Given the description of an element on the screen output the (x, y) to click on. 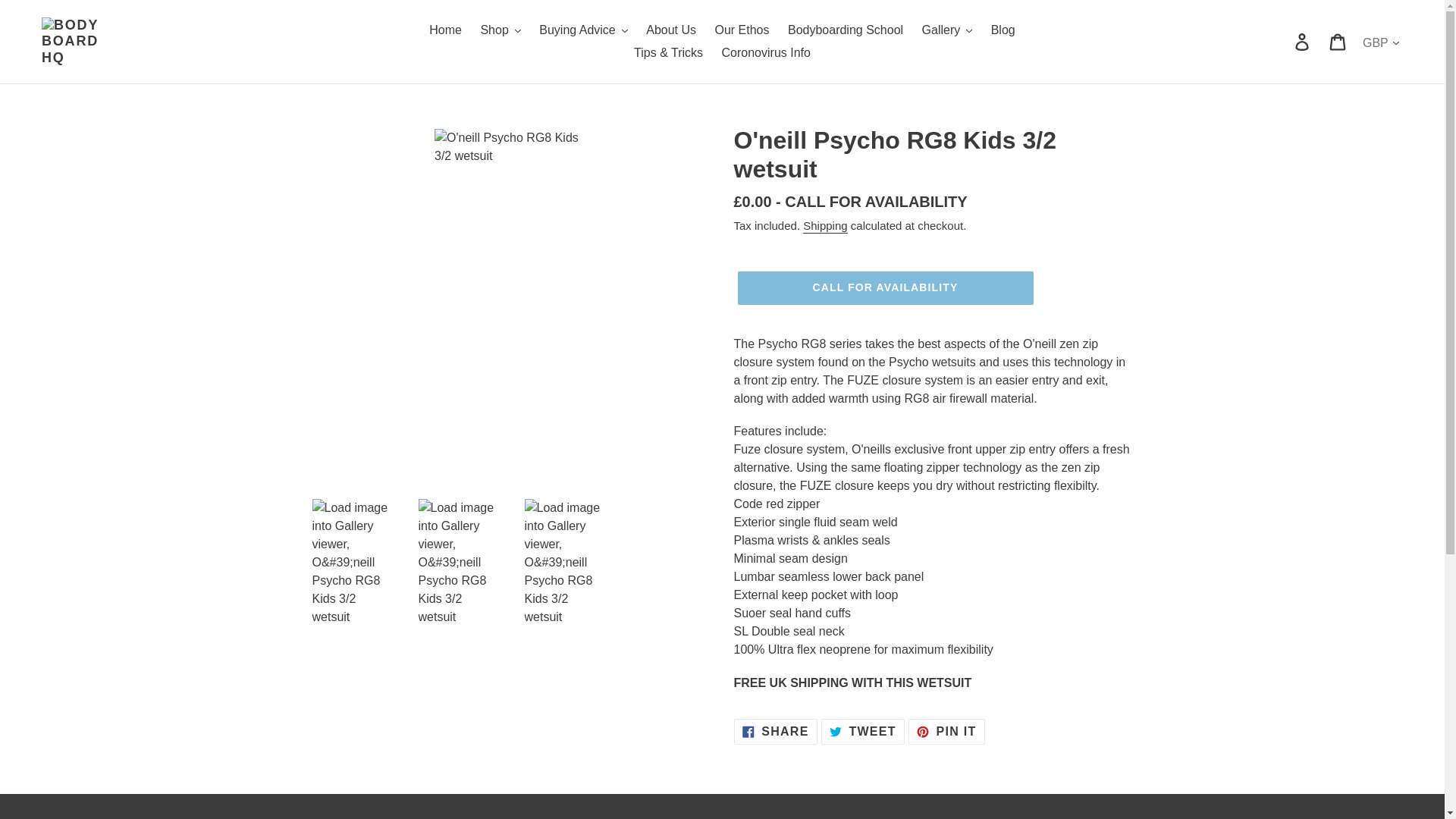
Our Ethos (741, 29)
Log in (1302, 41)
About Us (671, 29)
Home (445, 29)
Bodyboarding School (845, 29)
Coronovirus Info (766, 52)
Blog (1003, 29)
Cart (1338, 41)
